Given the description of an element on the screen output the (x, y) to click on. 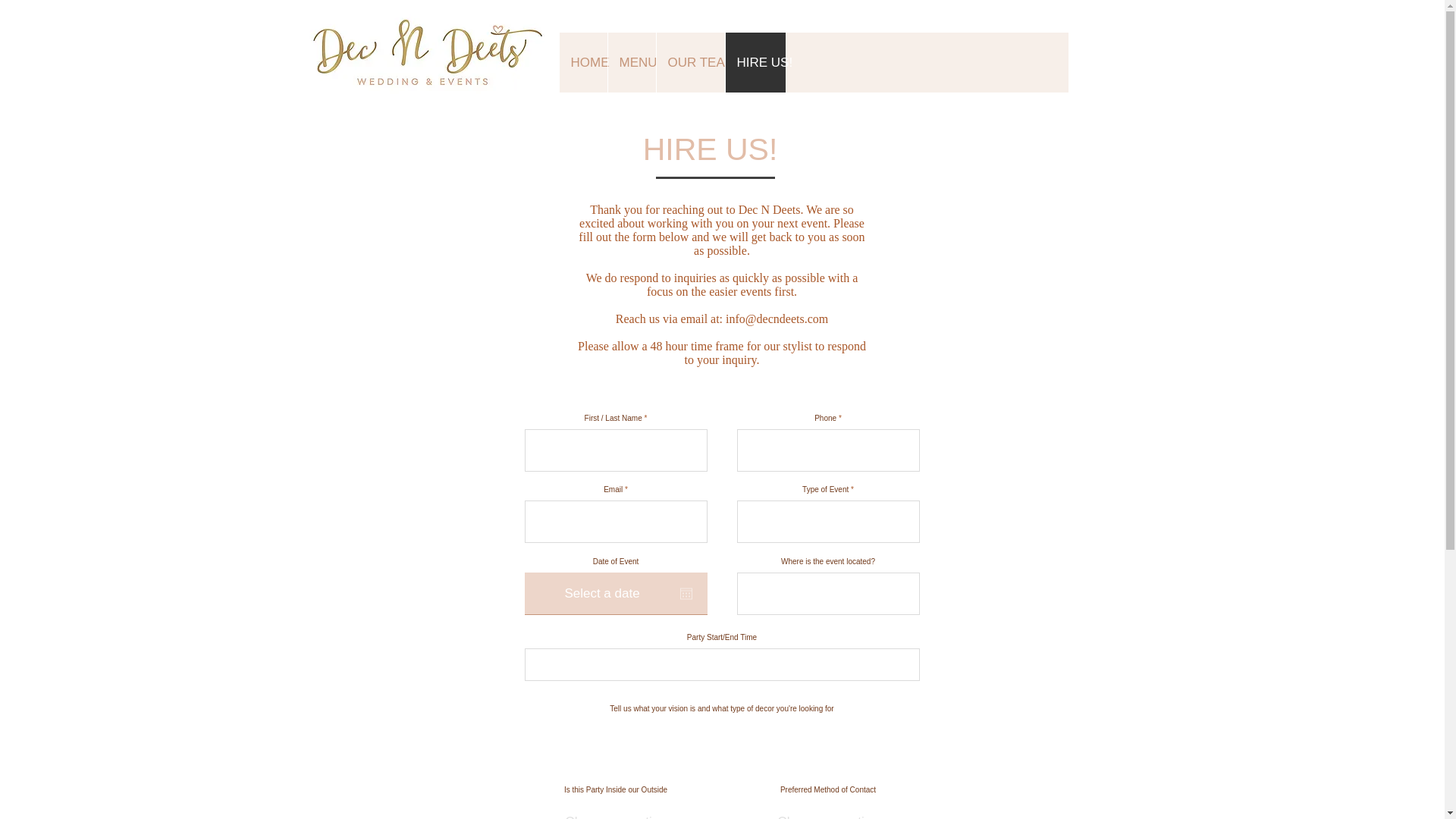
OUR TEAM (689, 62)
HIRE US! (755, 62)
